Given the description of an element on the screen output the (x, y) to click on. 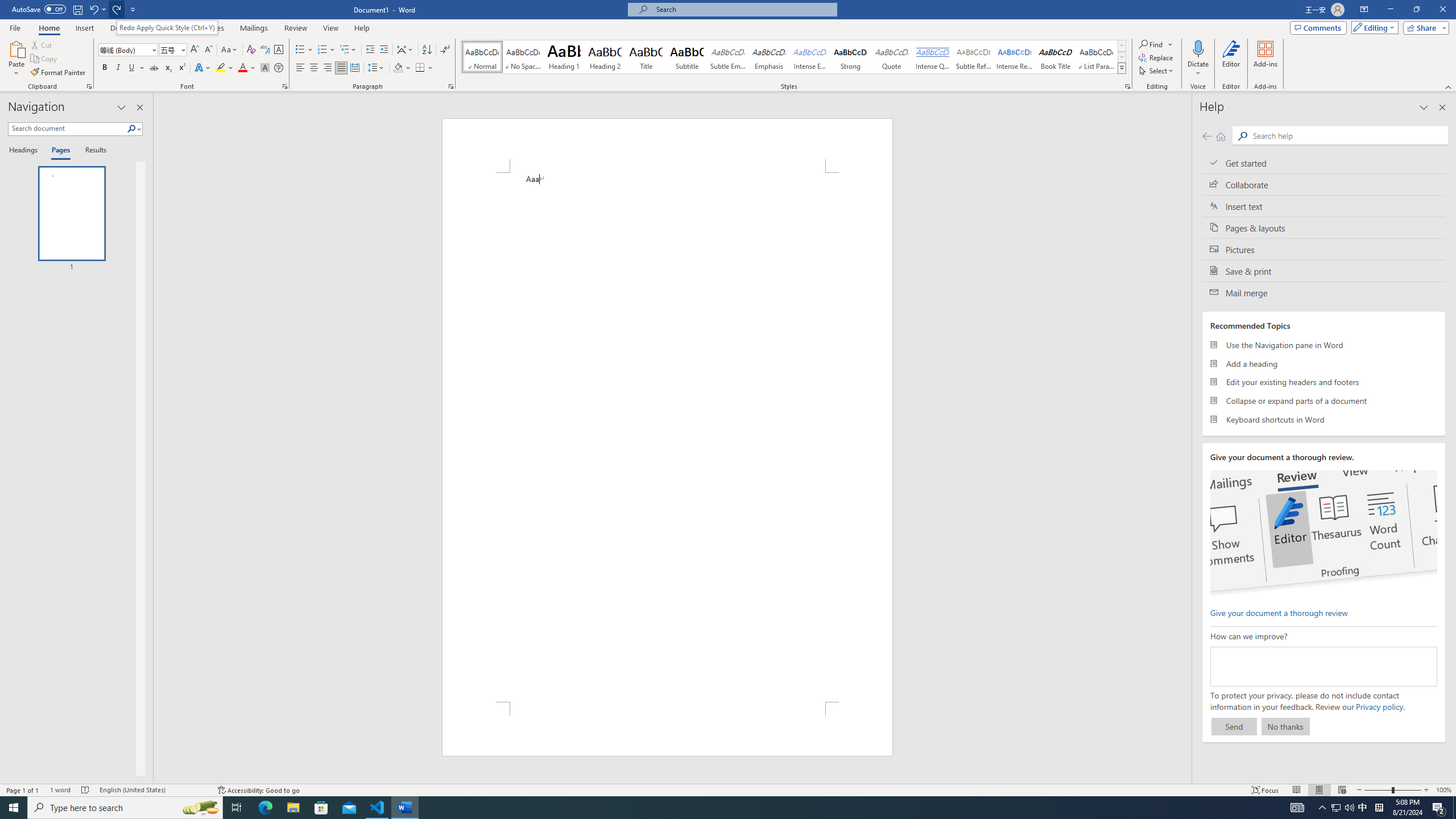
Collapse or expand parts of a document (1323, 400)
Intense Emphasis (809, 56)
Subtitle (686, 56)
